Given the description of an element on the screen output the (x, y) to click on. 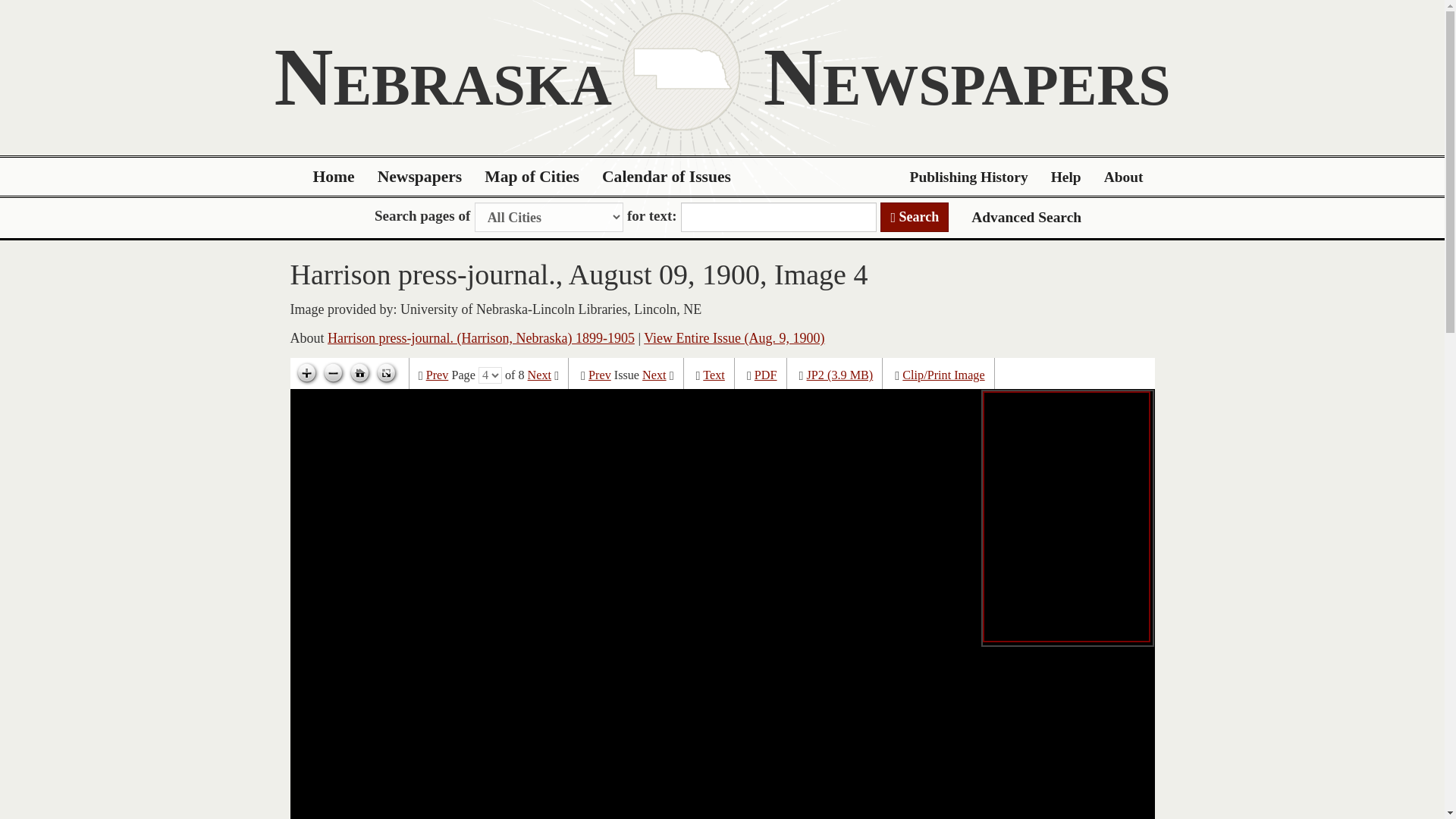
Prev (437, 375)
Calendar of Issues (666, 176)
Advanced Search (1026, 216)
PDF (765, 375)
Prev (599, 375)
Search (914, 217)
About (1123, 176)
Home (333, 176)
Zoom out (333, 373)
Newspapers (420, 176)
Go home (359, 373)
Zoom in (307, 373)
Help (1066, 176)
Toggle full page (385, 373)
Next (653, 375)
